Given the description of an element on the screen output the (x, y) to click on. 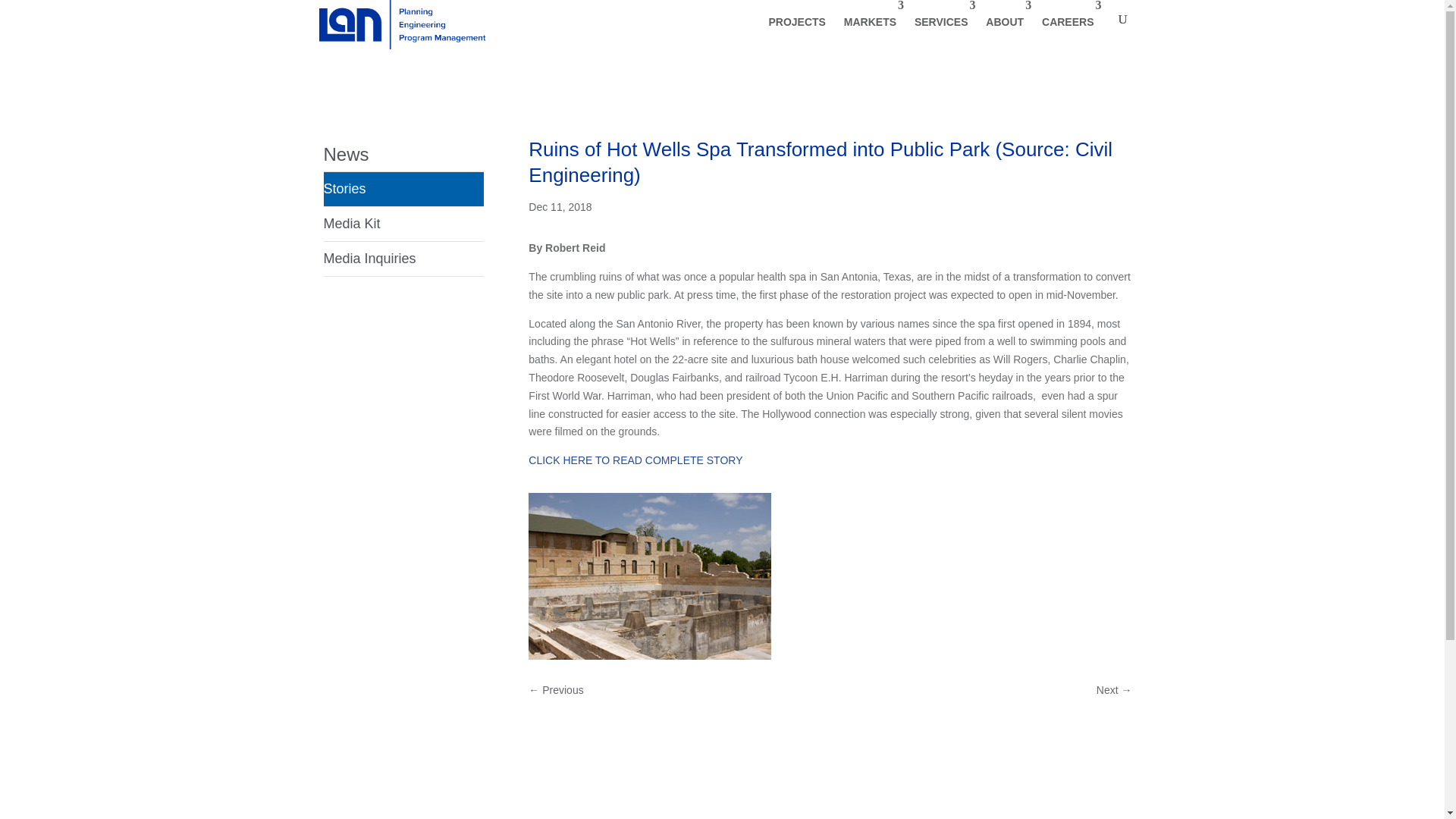
CAREERS (1066, 24)
PROJECTS (796, 24)
MARKETS (869, 24)
SERVICES (941, 24)
ABOUT (1004, 24)
